Given the description of an element on the screen output the (x, y) to click on. 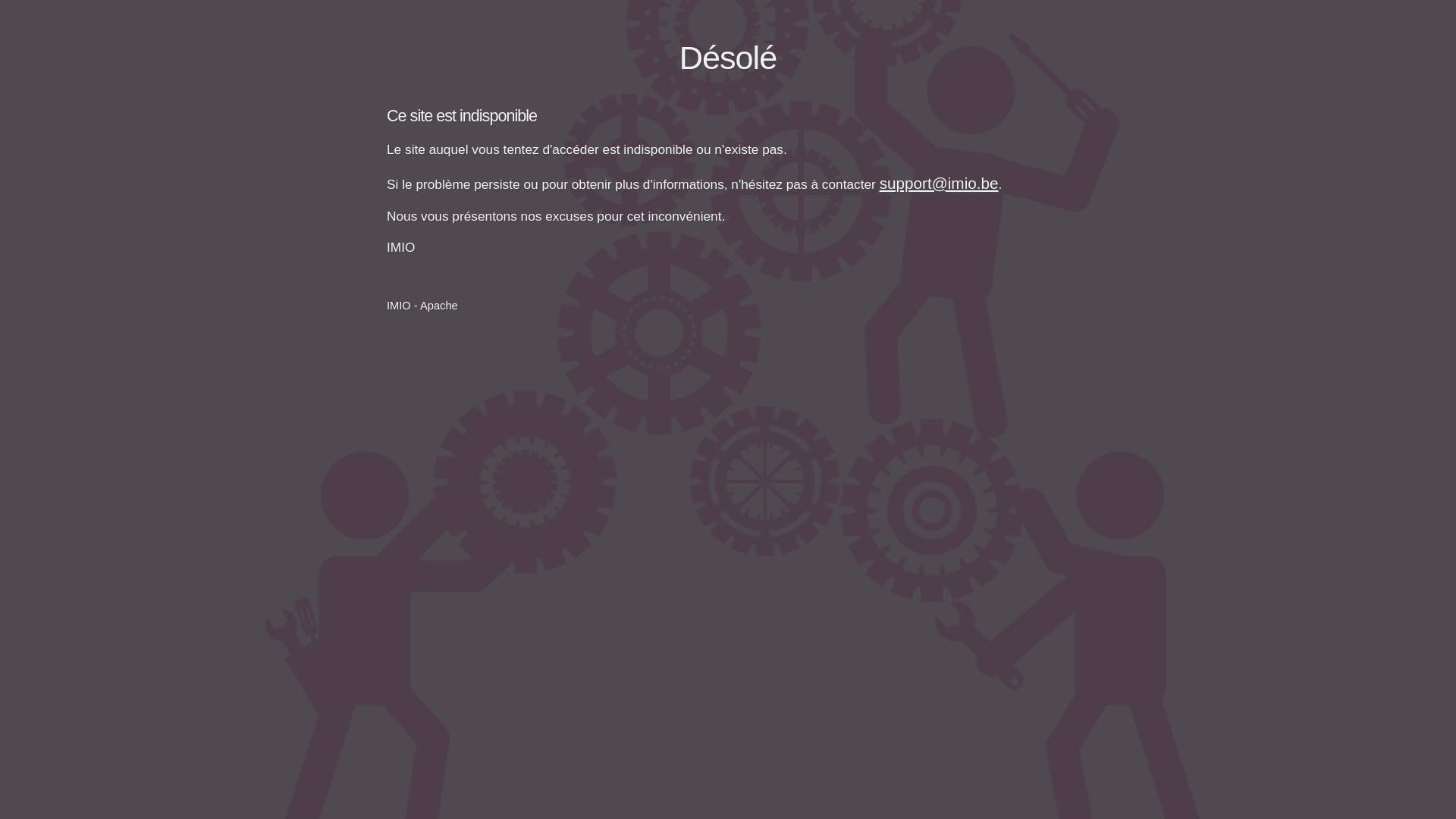
support@imio.be Element type: text (938, 182)
